Given the description of an element on the screen output the (x, y) to click on. 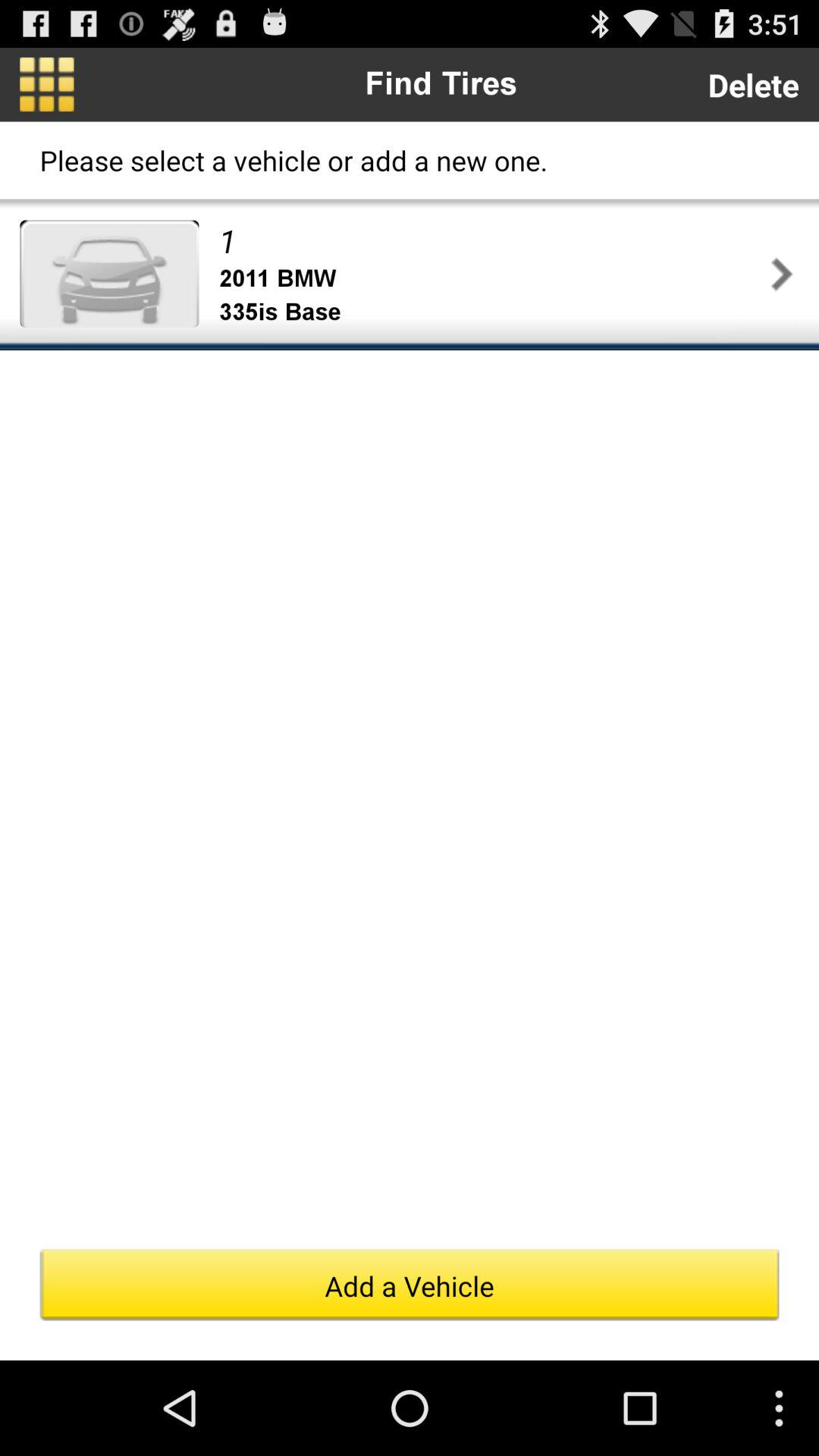
launch icon above the 335is base item (491, 278)
